Given the description of an element on the screen output the (x, y) to click on. 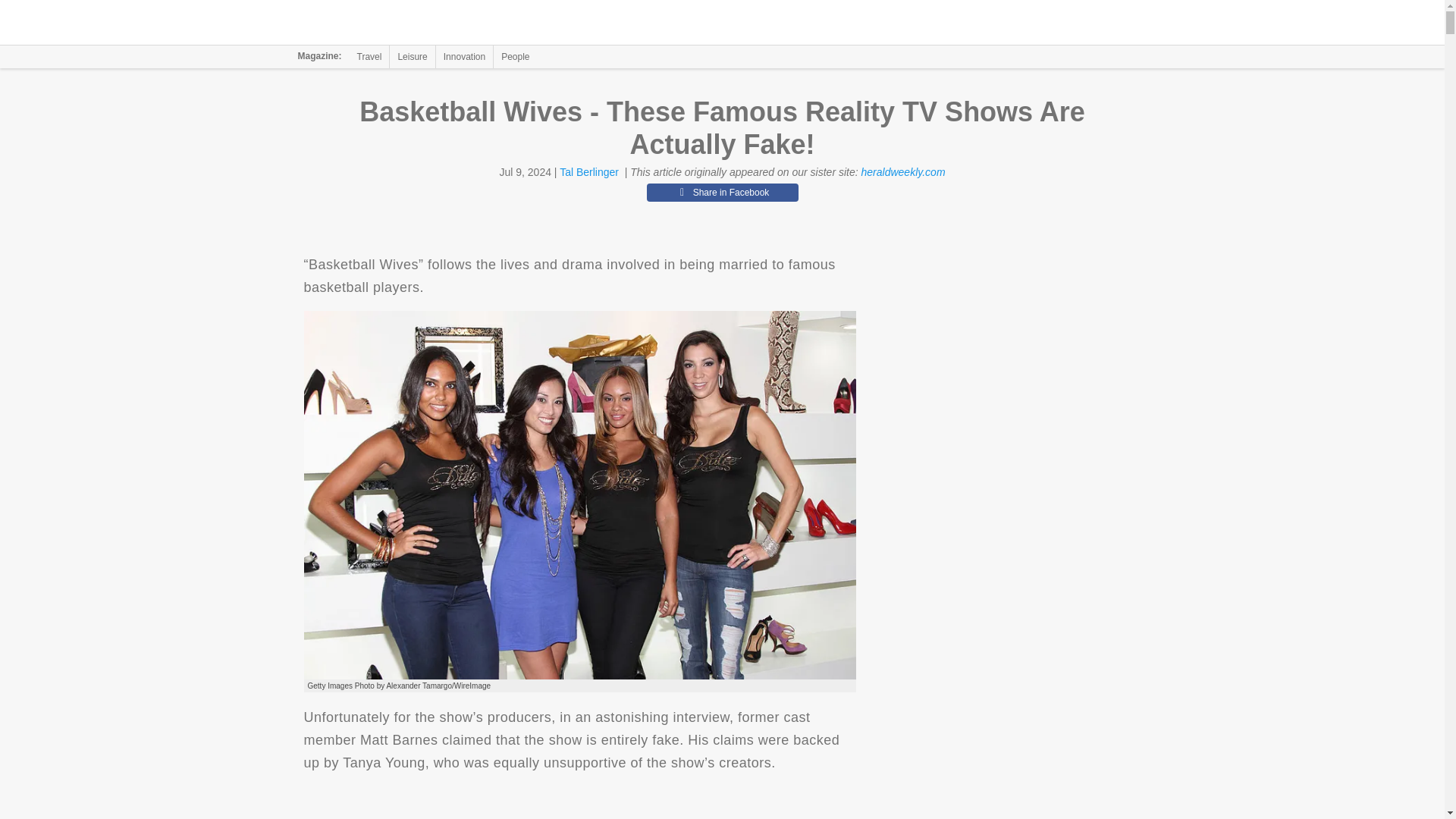
Leisure (411, 56)
Travel (369, 56)
heraldweekly.com (902, 172)
People (515, 56)
Tal Berlinger (588, 172)
Share in Facebook (721, 192)
Innovation (464, 56)
The Jerusalem Post Magazine (391, 22)
